Given the description of an element on the screen output the (x, y) to click on. 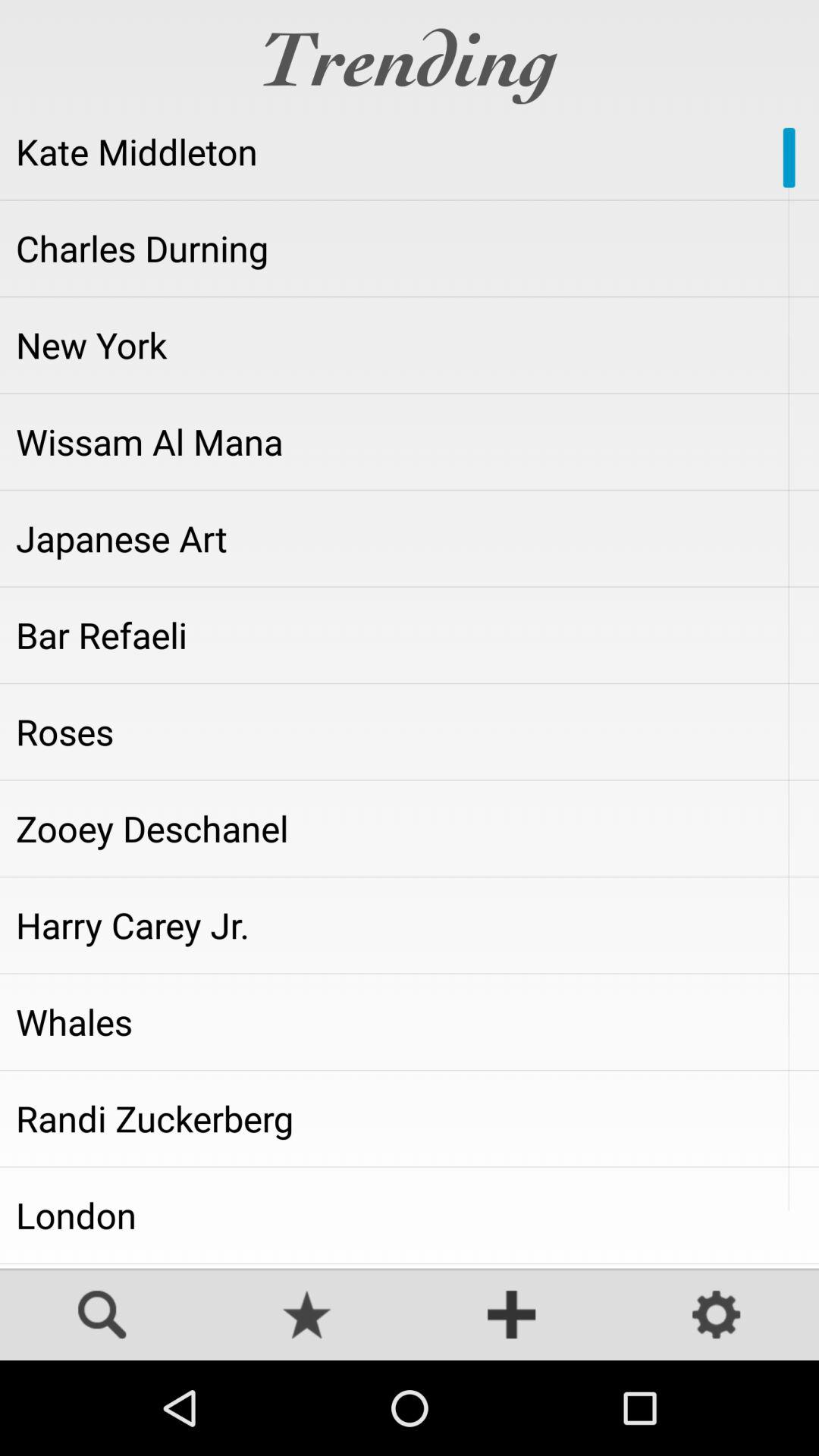
open favorites (306, 1316)
